Given the description of an element on the screen output the (x, y) to click on. 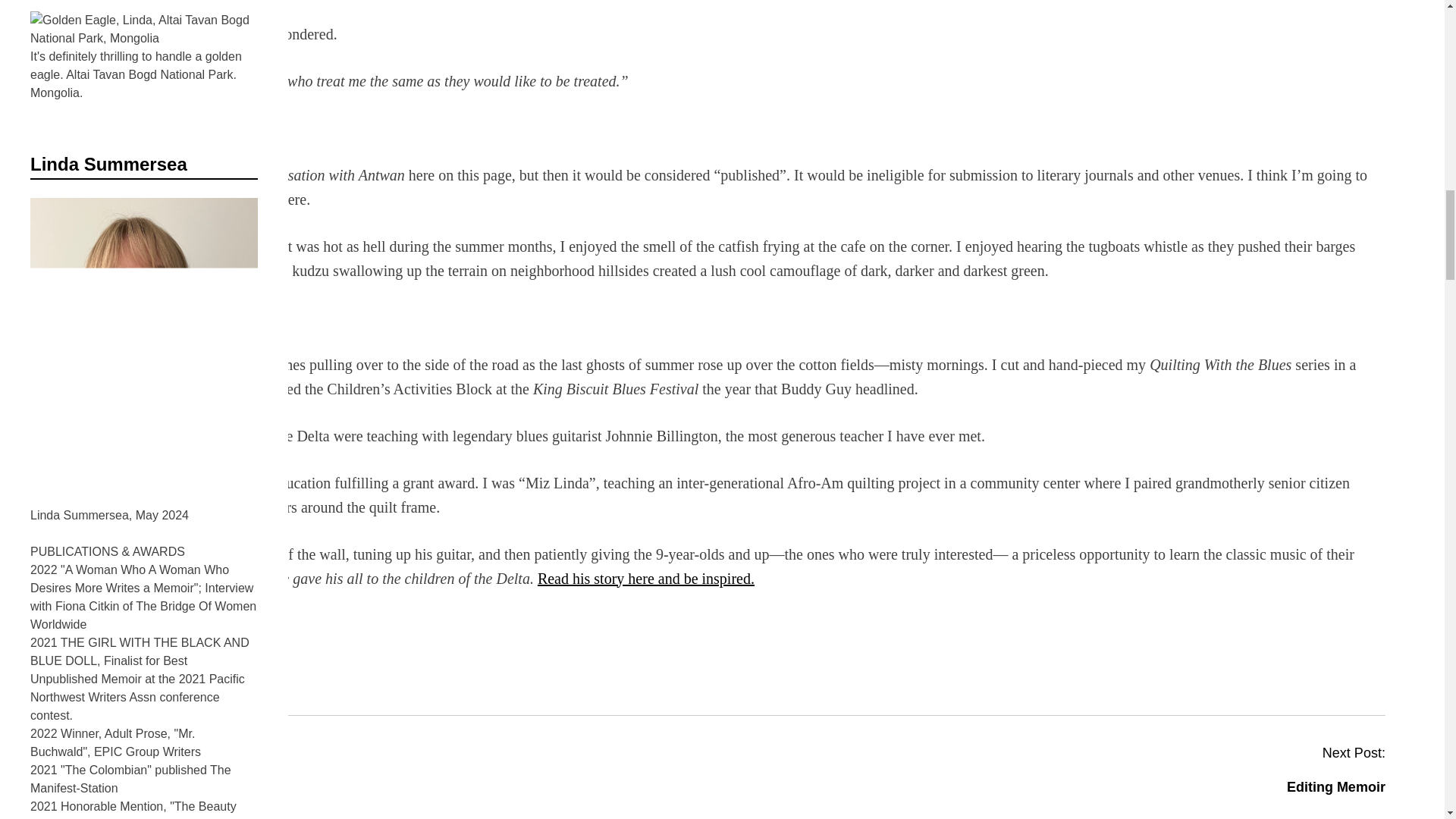
Witness to the Suicide Contract (161, 786)
Read his story here and be inspired. (645, 578)
Editing Memoir (1336, 786)
